Given the description of an element on the screen output the (x, y) to click on. 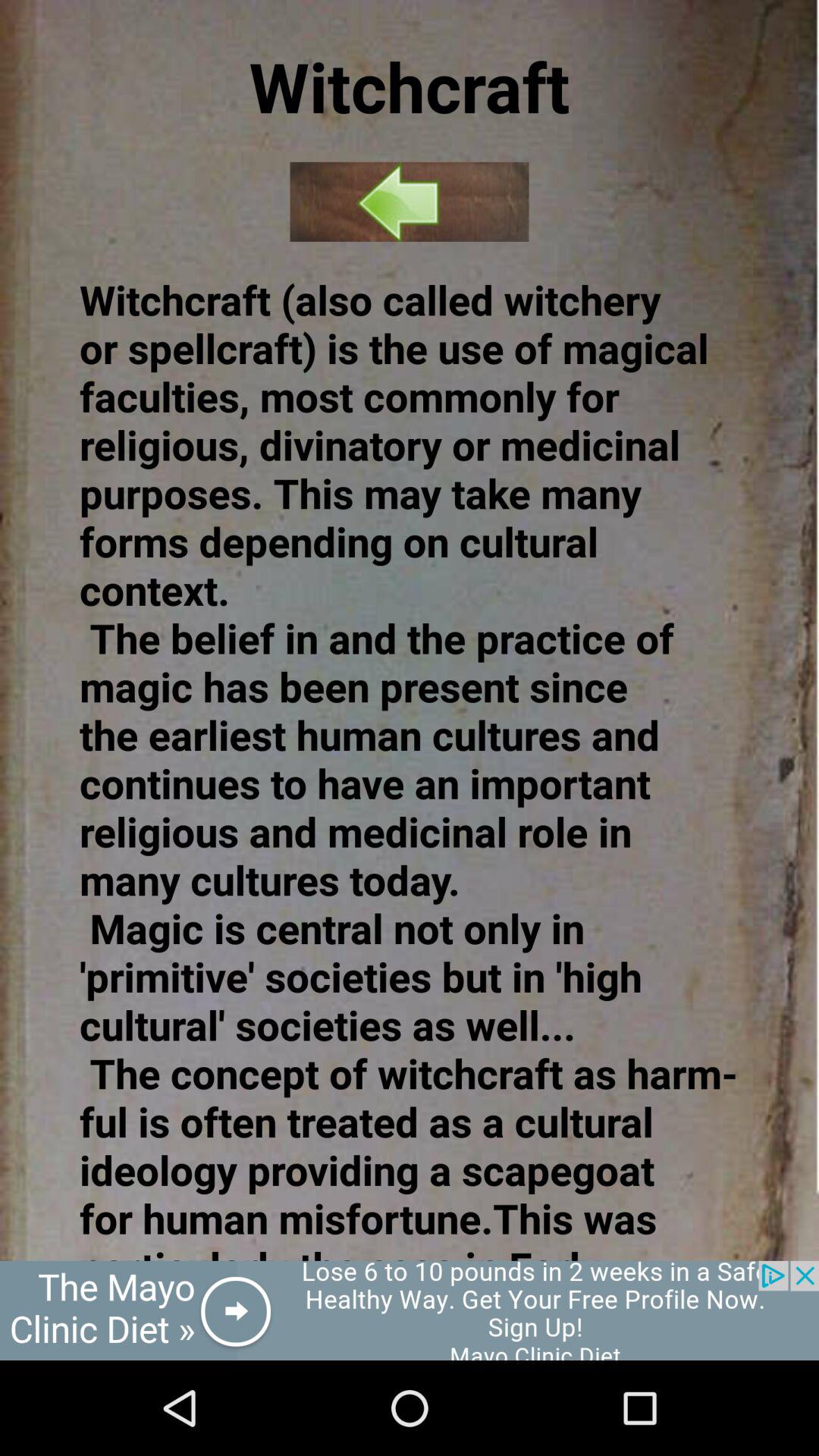
sign up to advertiser (409, 1310)
